Given the description of an element on the screen output the (x, y) to click on. 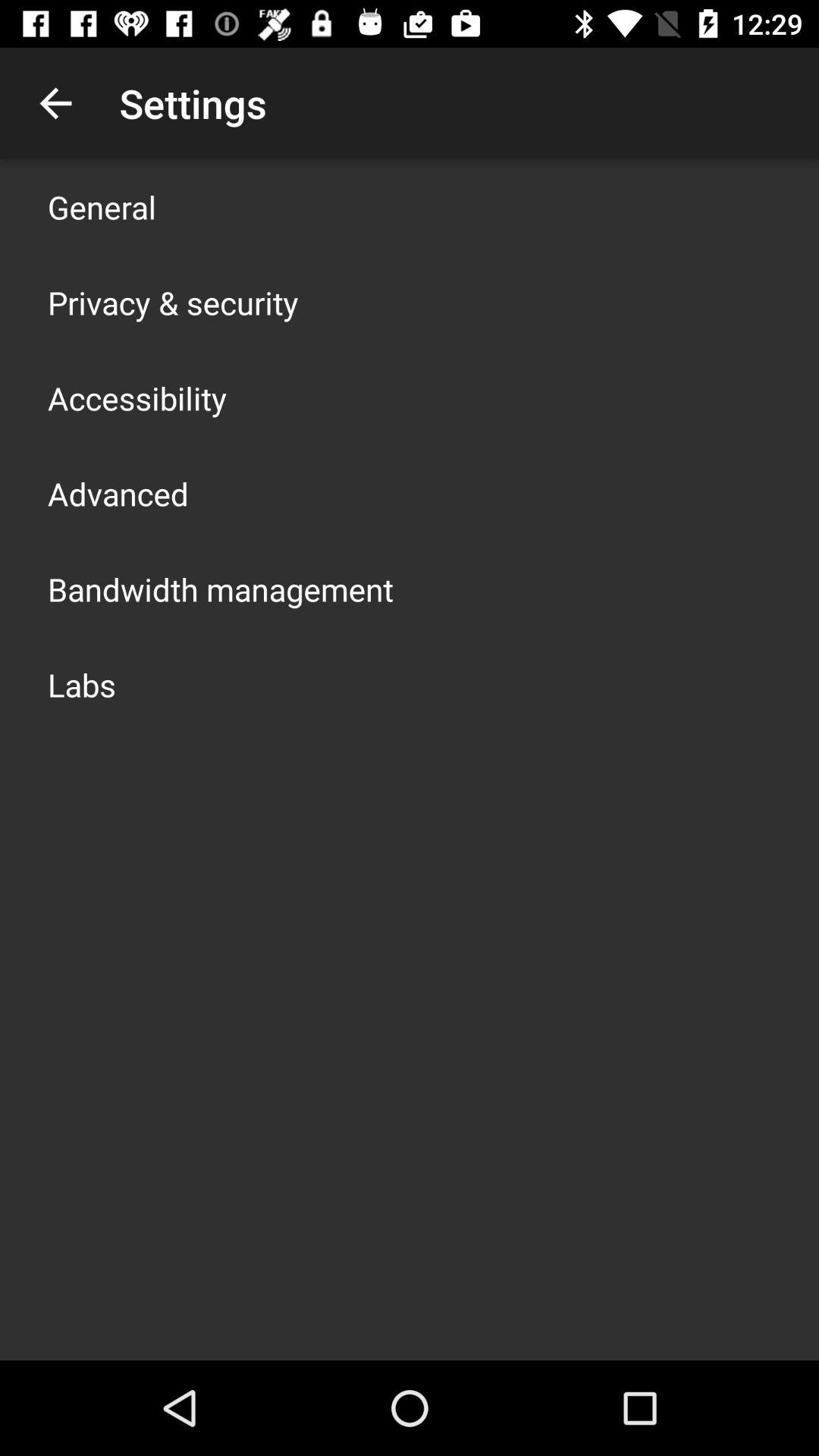
click item below privacy & security item (136, 397)
